Given the description of an element on the screen output the (x, y) to click on. 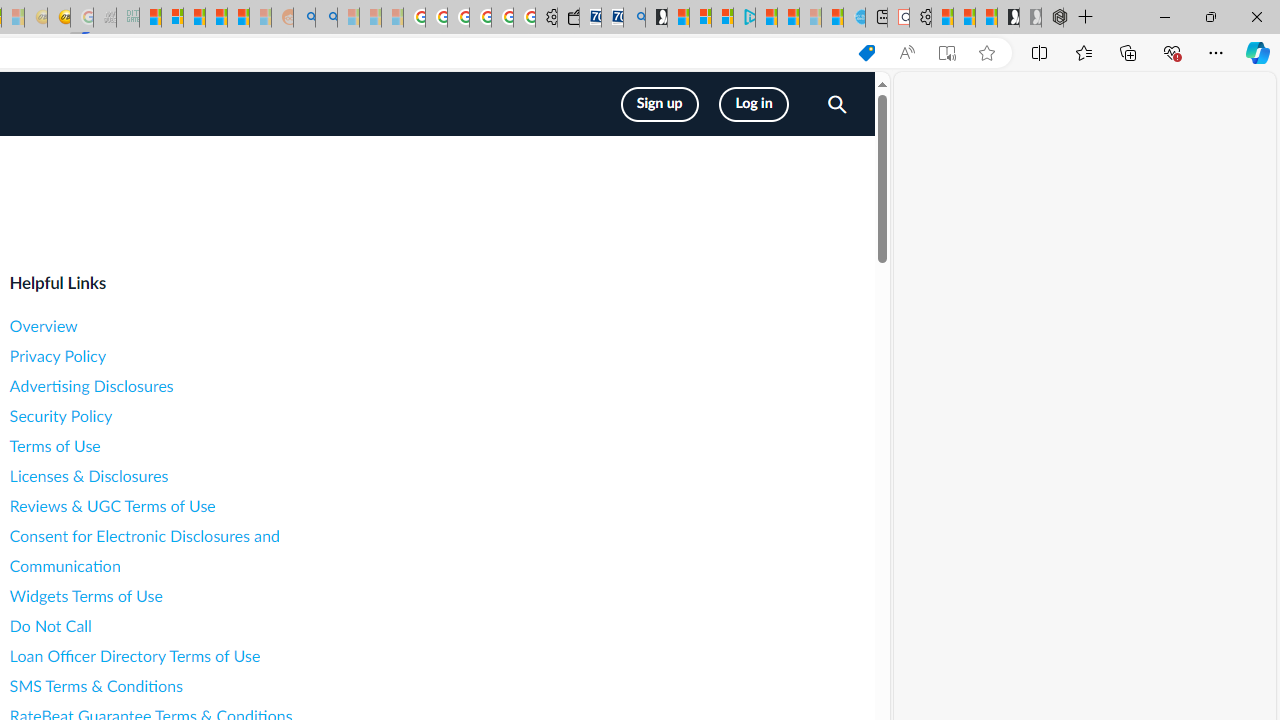
Bing Real Estate - Home sales and rental listings (634, 17)
Do Not Call (188, 626)
